Given the description of an element on the screen output the (x, y) to click on. 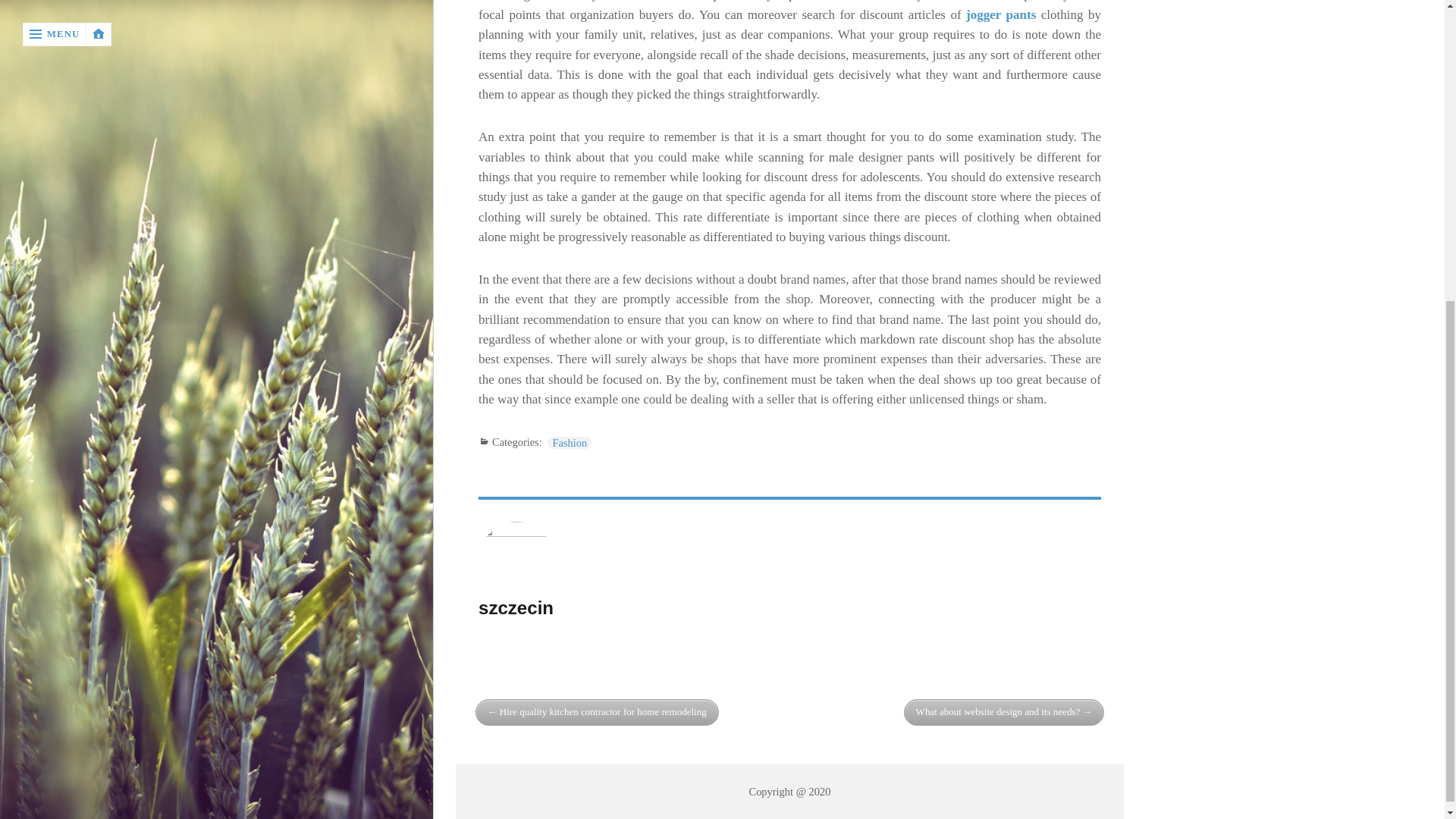
Hire quality kitchen contractor for home remodeling (597, 712)
Fashion (569, 442)
What about website design and its needs? (1004, 712)
jogger pants (1000, 14)
